Given the description of an element on the screen output the (x, y) to click on. 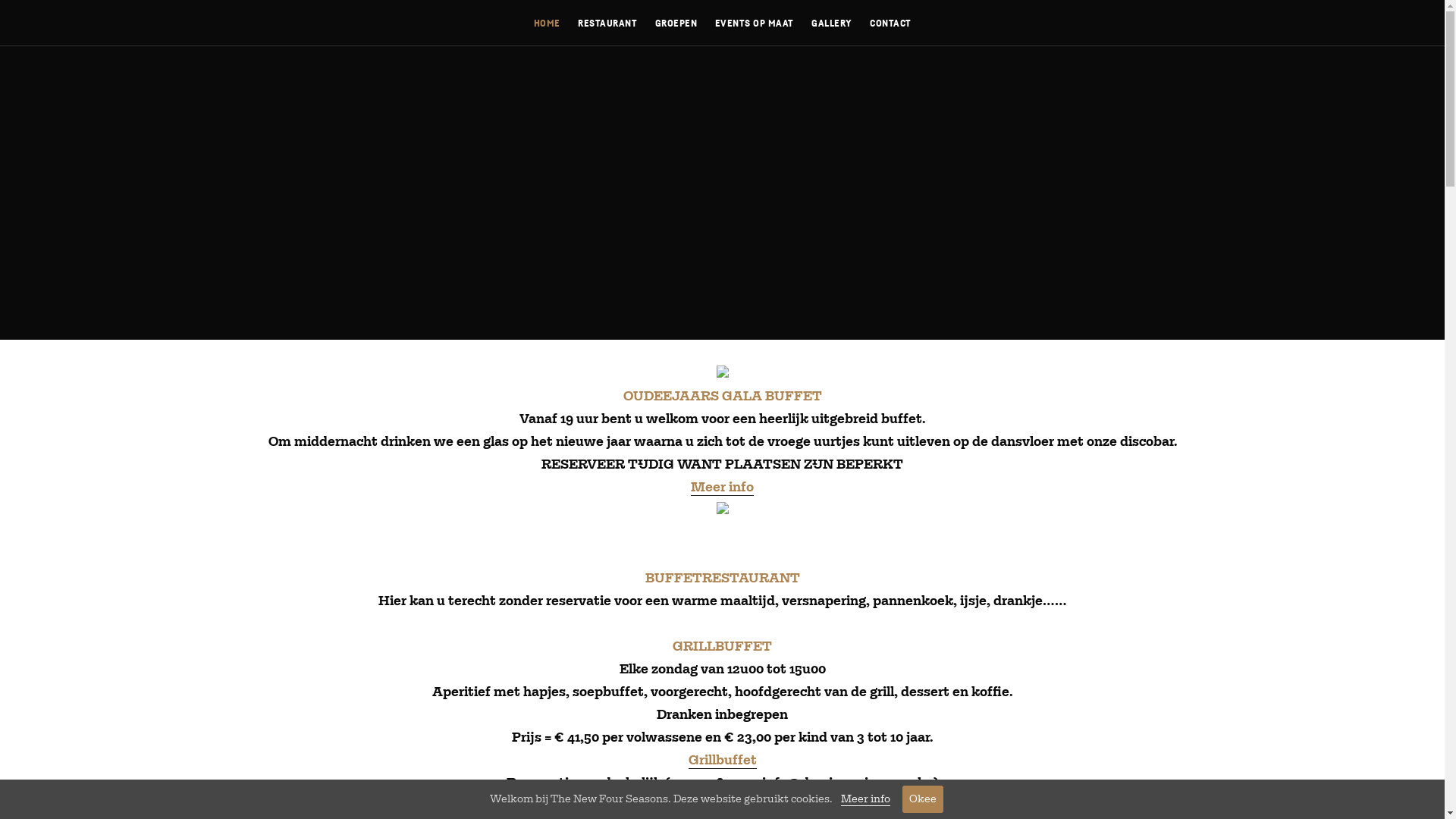
Meer info Element type: text (864, 799)
Grillbuffet Element type: text (722, 760)
RESTAURANT Element type: text (607, 17)
EVENTS OP MAAT Element type: text (753, 17)
GALLERY Element type: text (831, 17)
GROEPEN Element type: text (676, 17)
CONTACT Element type: text (890, 17)
Okee Element type: text (922, 798)
Meer info Element type: text (721, 487)
Skip to content Element type: text (0, 0)
HOME Element type: text (546, 17)
